Given the description of an element on the screen output the (x, y) to click on. 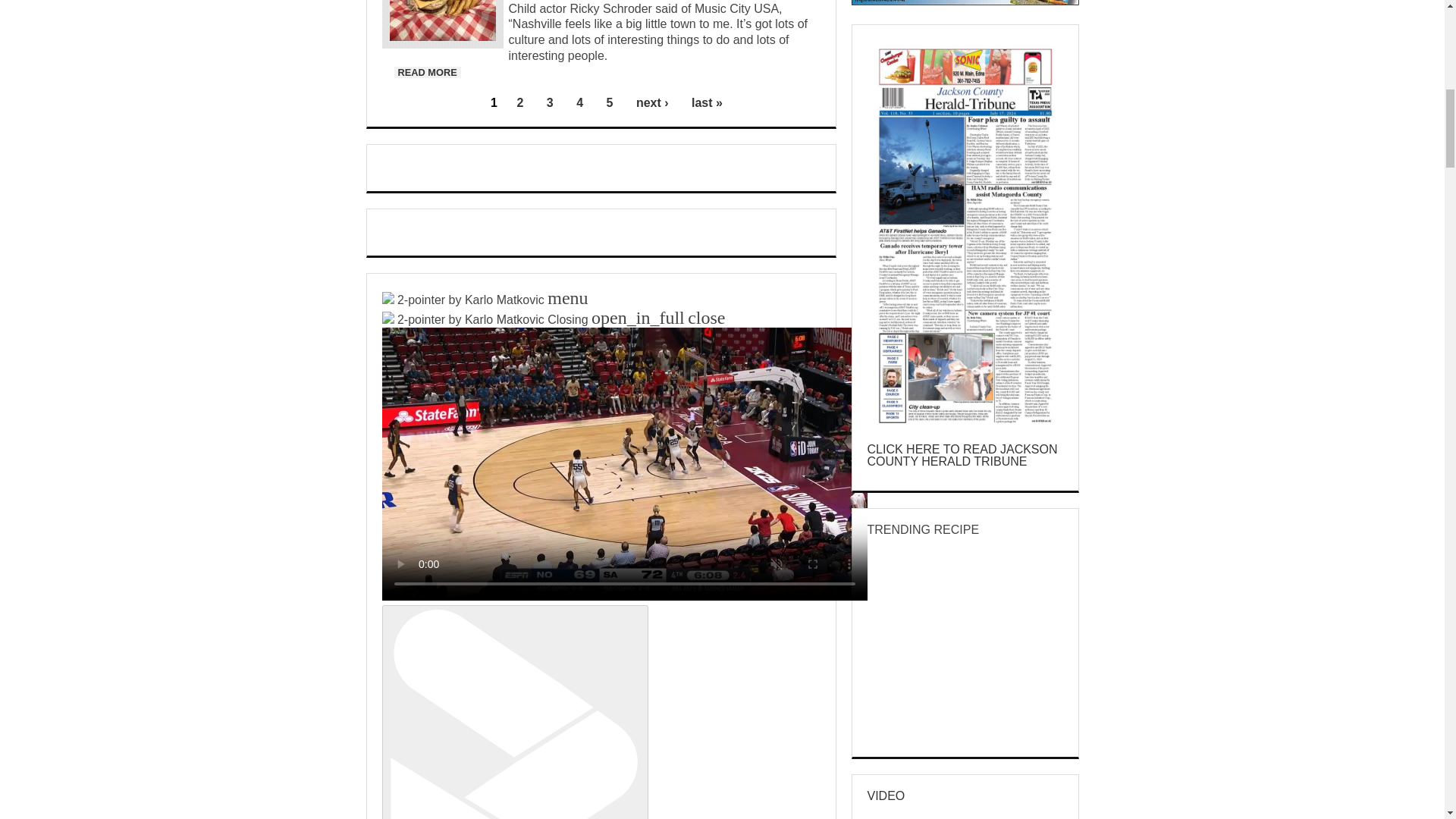
2 (519, 102)
5 (609, 102)
3 (427, 71)
4 (550, 102)
